Given the description of an element on the screen output the (x, y) to click on. 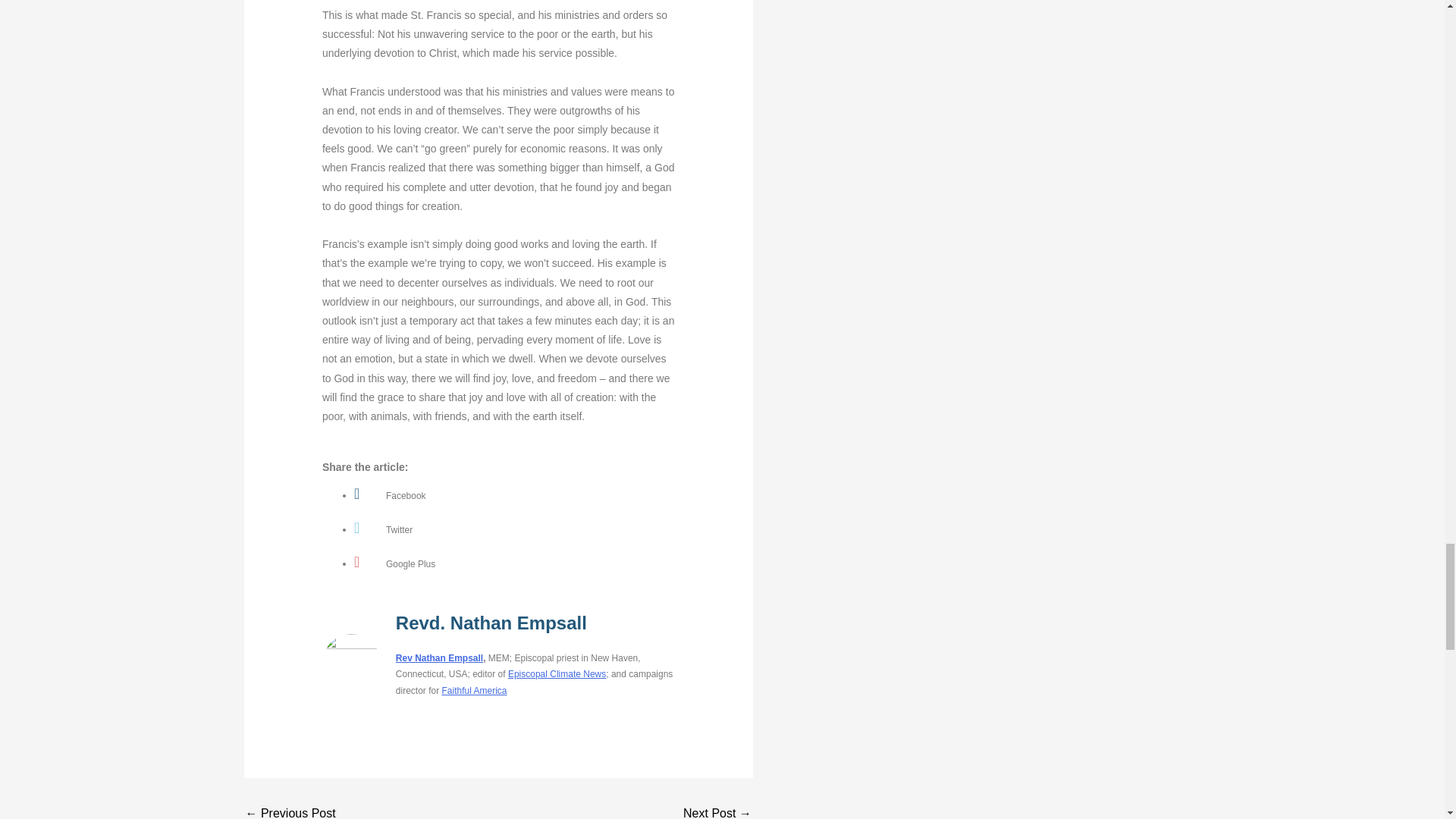
Faithful America (473, 690)
Rev Nathan Empsall (439, 657)
Episcopal Climate News (556, 674)
13th Sunday after Pentecost (291, 809)
20th Sunday after Pentecost (716, 809)
